Given the description of an element on the screen output the (x, y) to click on. 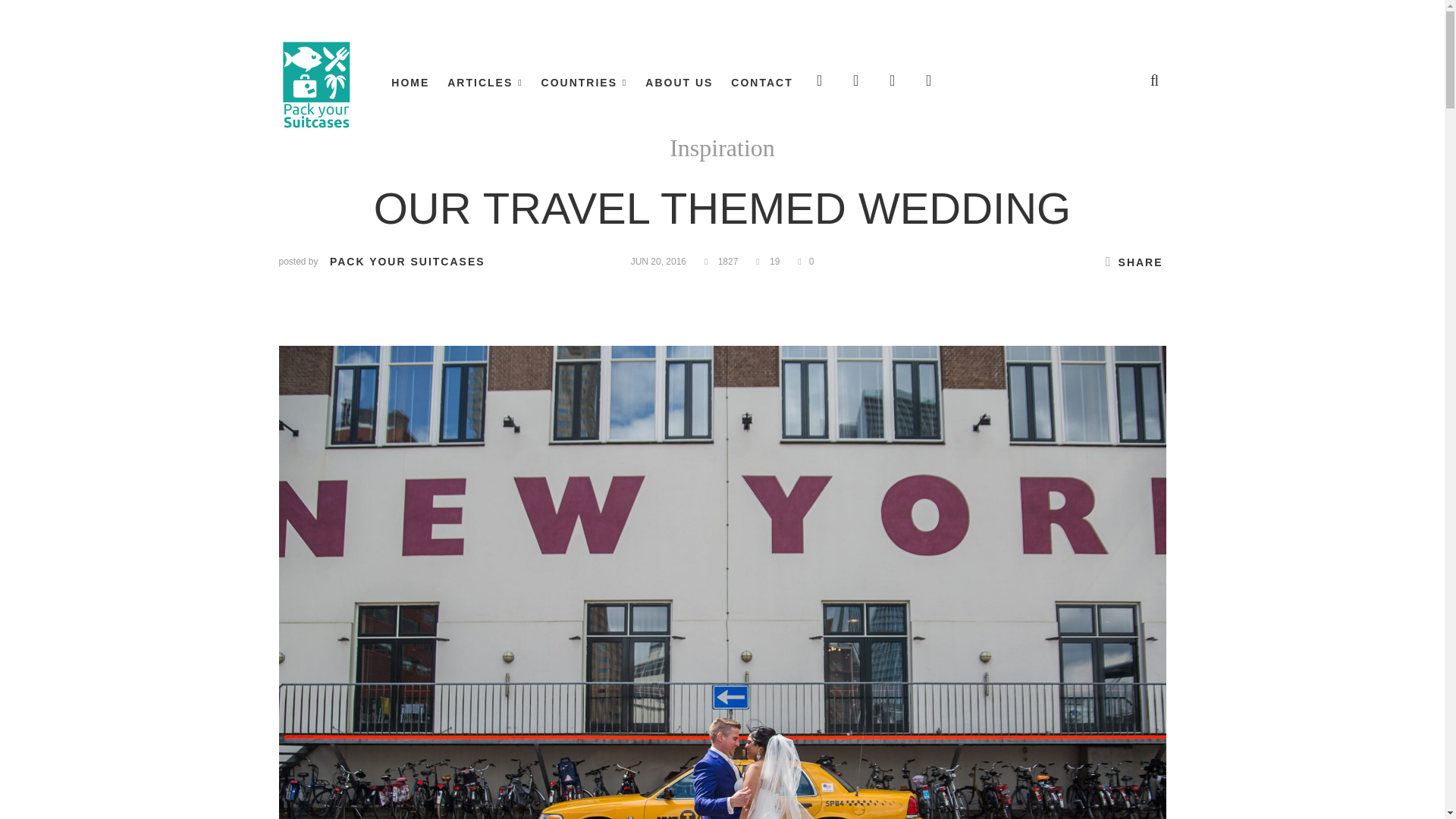
COUNTRIES (584, 82)
HOME (410, 82)
ABOUT US (679, 82)
ARTICLES (484, 82)
CONTACT (761, 82)
